Given the description of an element on the screen output the (x, y) to click on. 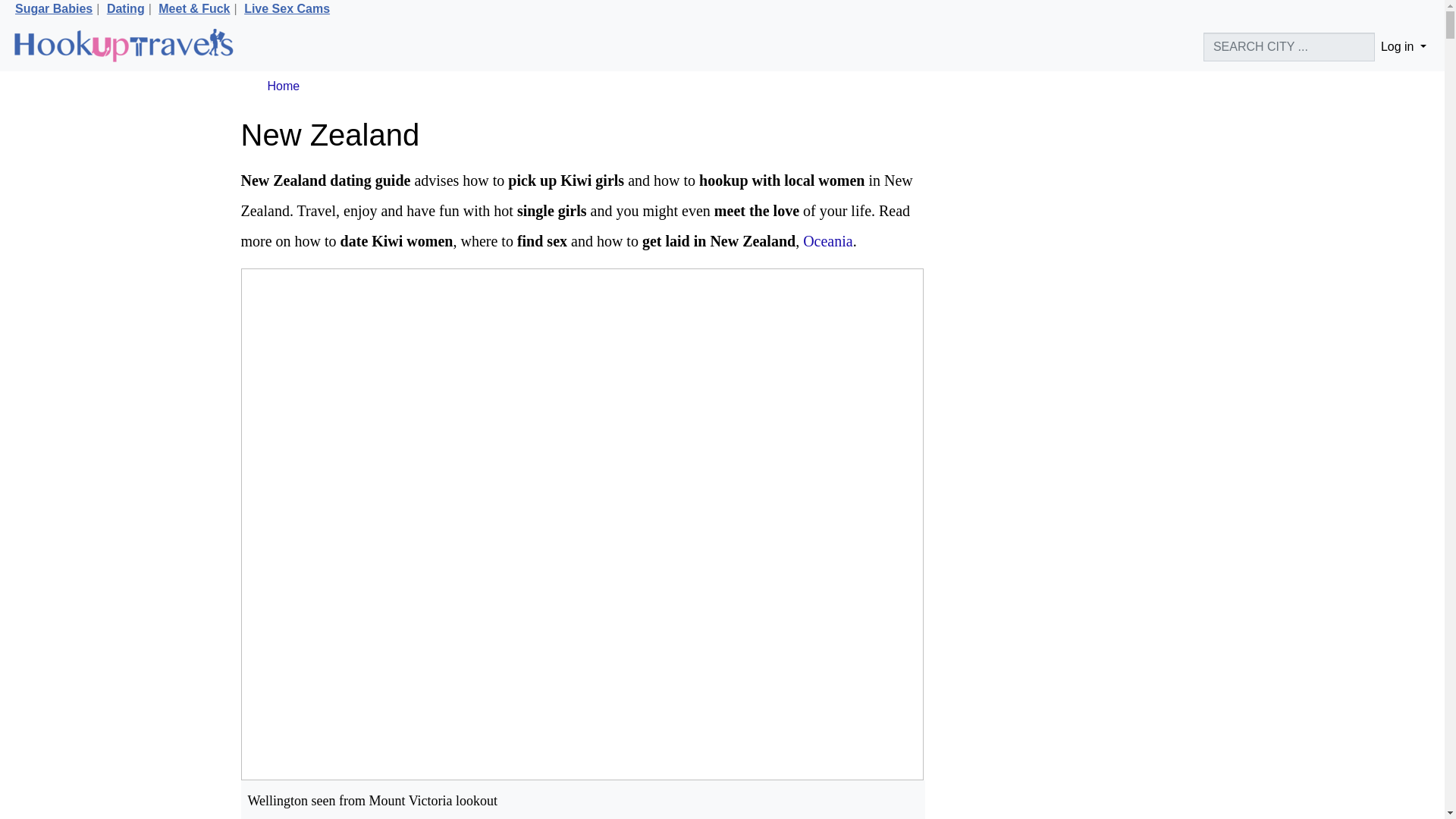
Oceania (828, 240)
Dating (125, 8)
Home (282, 85)
Hookup Travels (122, 46)
Log in (1403, 46)
Sugar Babies (53, 8)
Live Sex Cams (287, 8)
Oceania (828, 240)
